Given the description of an element on the screen output the (x, y) to click on. 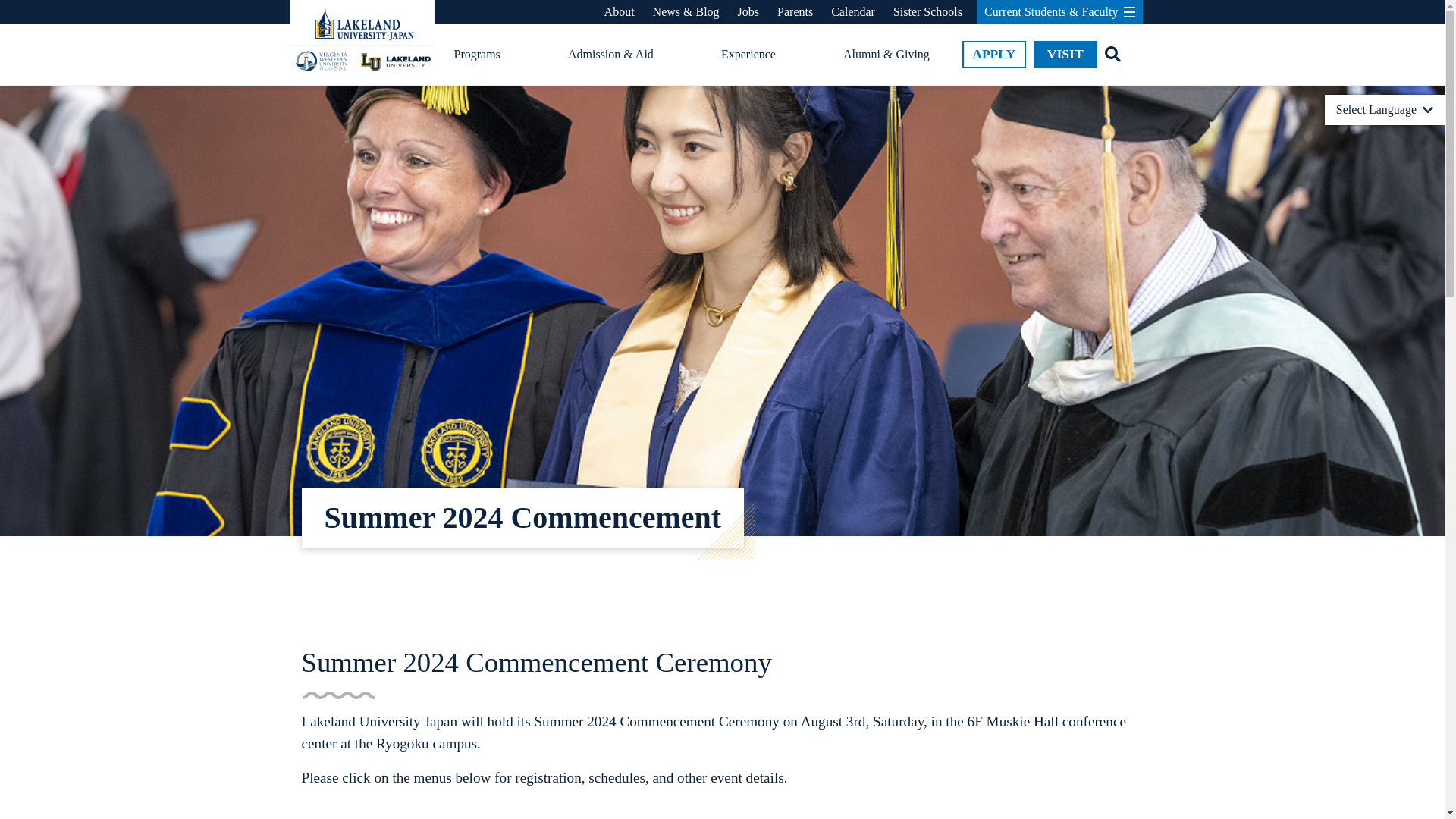
Experience (748, 54)
About (619, 12)
Sister Schools (927, 12)
Calendar (853, 12)
VISIT (1065, 53)
Programs (476, 54)
APPLY (994, 53)
Parents (794, 12)
Jobs (747, 12)
